Given the description of an element on the screen output the (x, y) to click on. 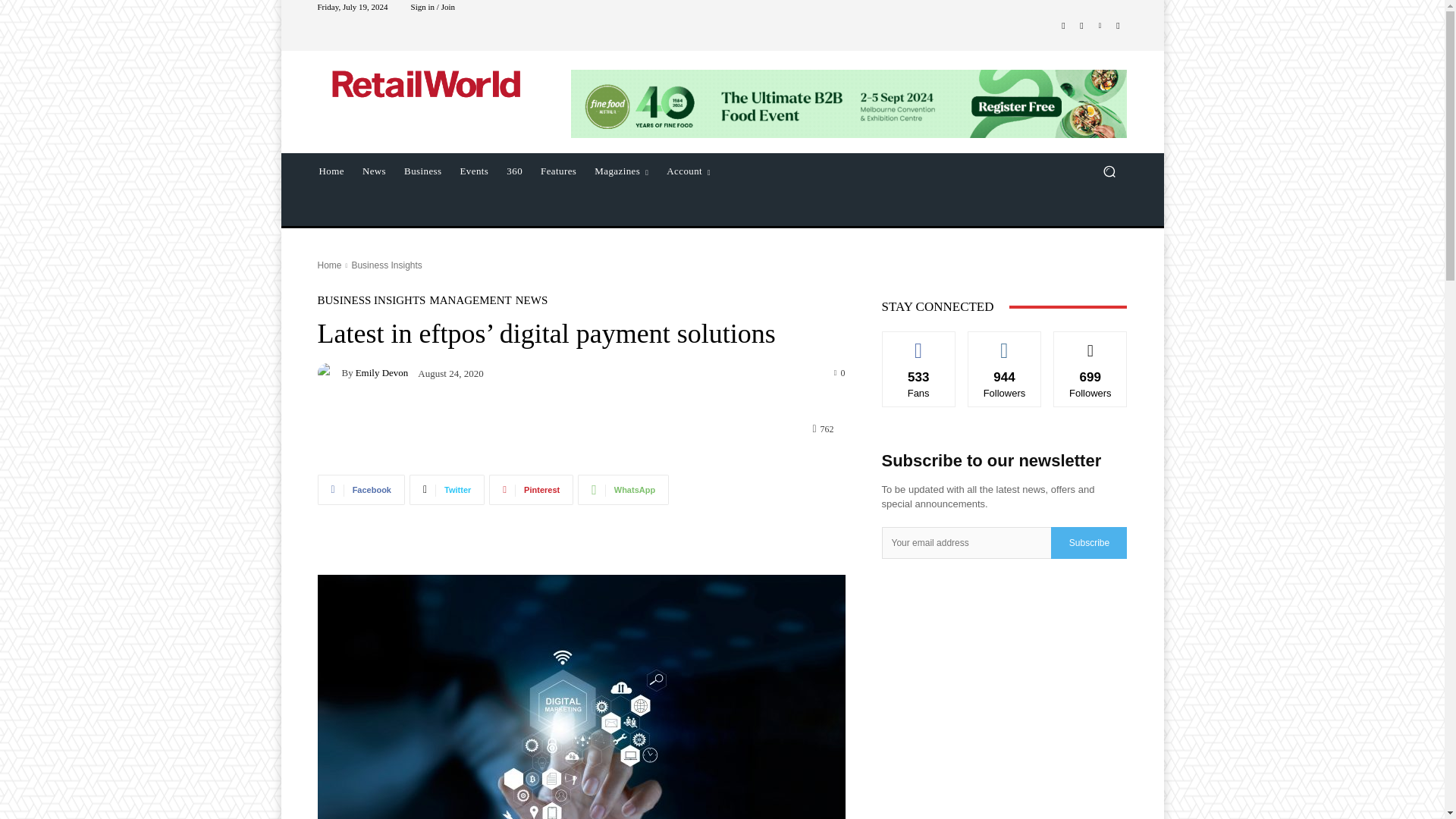
Business (421, 171)
Pinterest (531, 490)
Twitter (1117, 25)
Instagram (1080, 25)
WhatsApp (623, 490)
Facebook (360, 490)
Events (474, 171)
Magazines (621, 171)
Emily Devon (328, 373)
Home (330, 171)
Twitter (446, 490)
Account (688, 171)
Features (558, 171)
News (373, 171)
360 (514, 171)
